Given the description of an element on the screen output the (x, y) to click on. 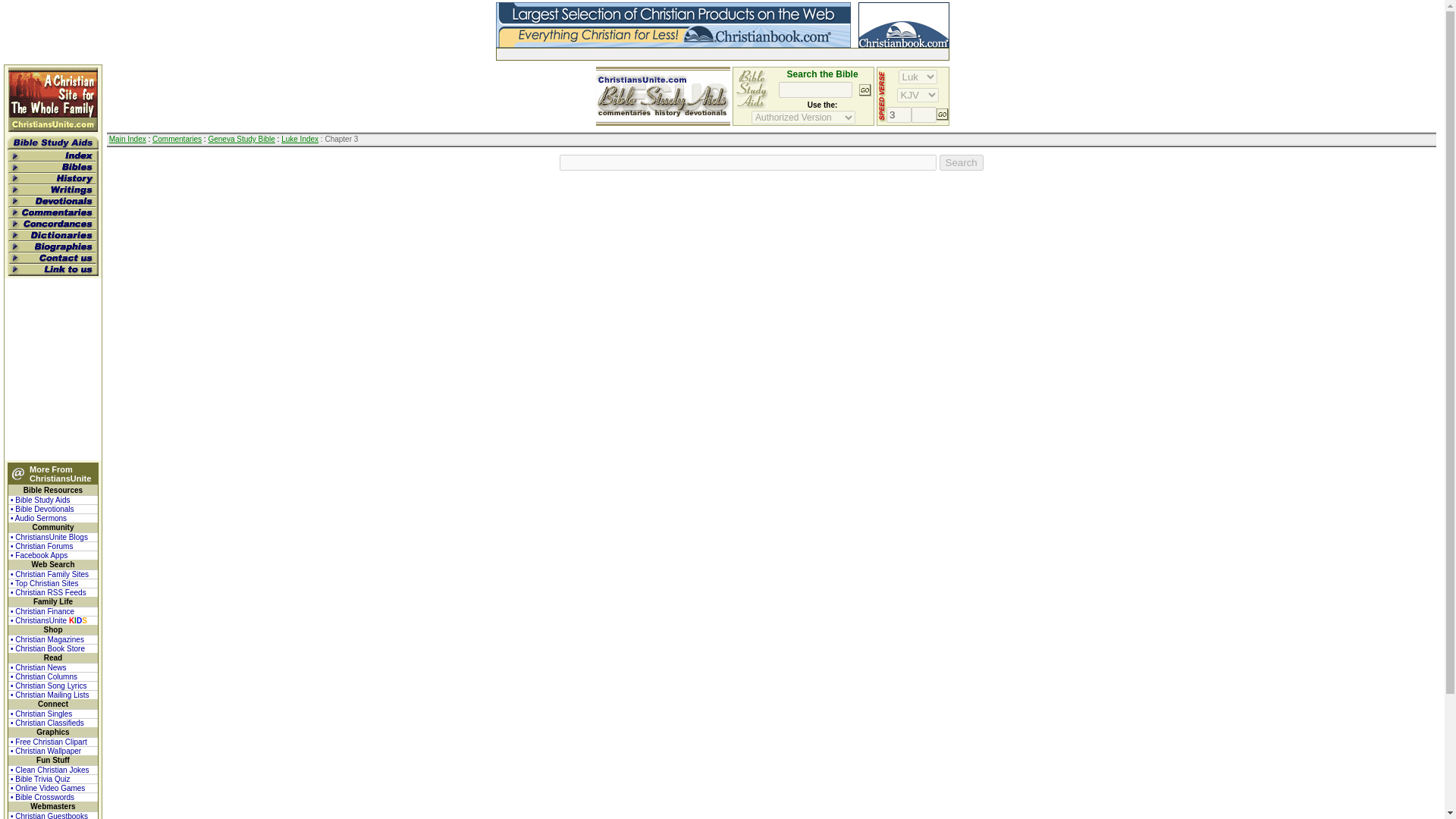
Geneva Study Bible (241, 139)
Advertisement (673, 53)
Commentaries (177, 139)
Search (961, 162)
Main Index (128, 139)
3 (898, 114)
Search (961, 162)
Luke Index (299, 139)
